Given the description of an element on the screen output the (x, y) to click on. 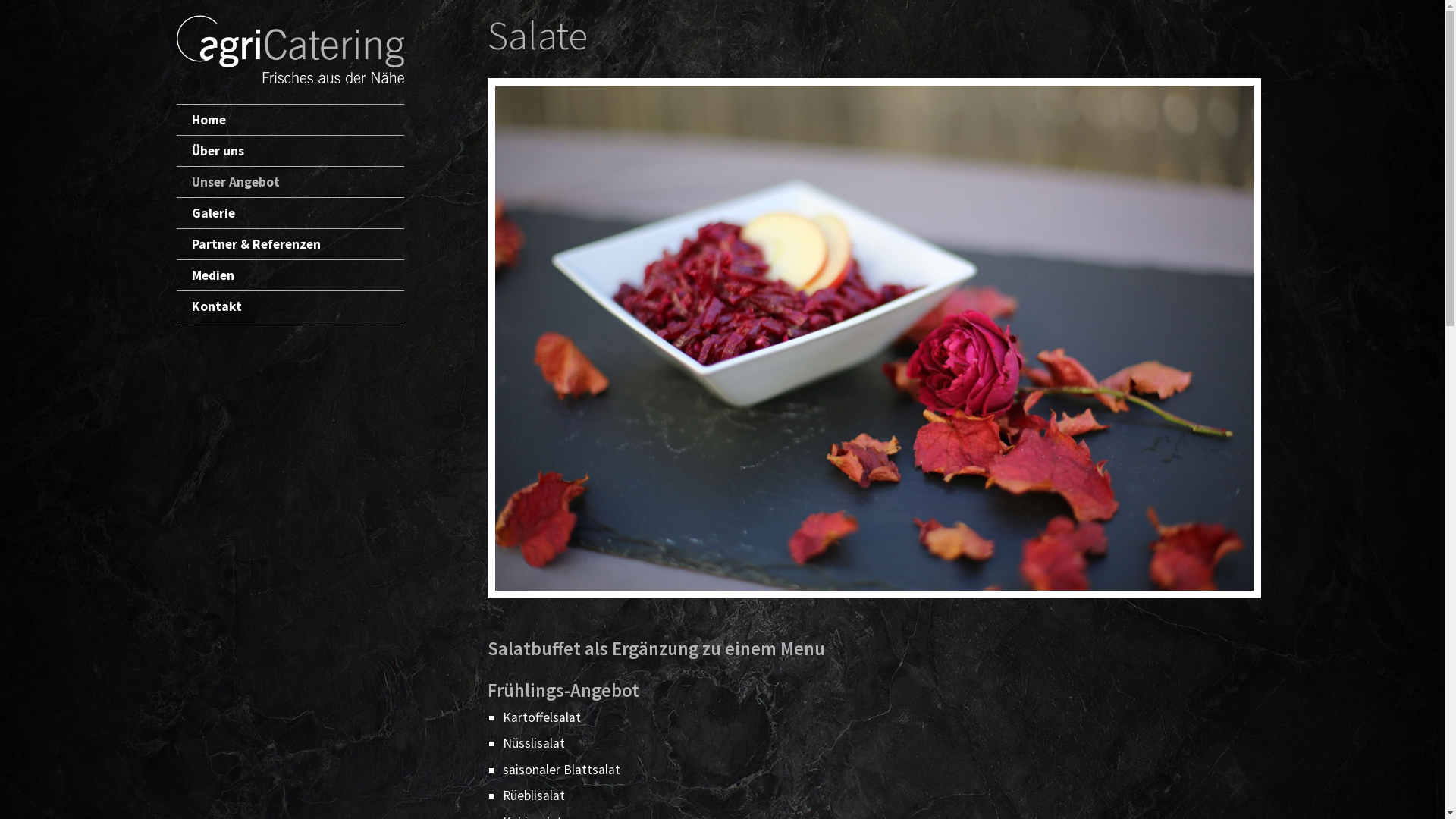
Home Element type: text (289, 118)
Galerie Element type: text (289, 212)
agriCatering-Logo Element type: hover (289, 49)
Kontakt Element type: text (289, 305)
Medien Element type: text (289, 274)
Unser Angebot Element type: text (289, 181)
Partner & Referenzen Element type: text (289, 243)
